Given the description of an element on the screen output the (x, y) to click on. 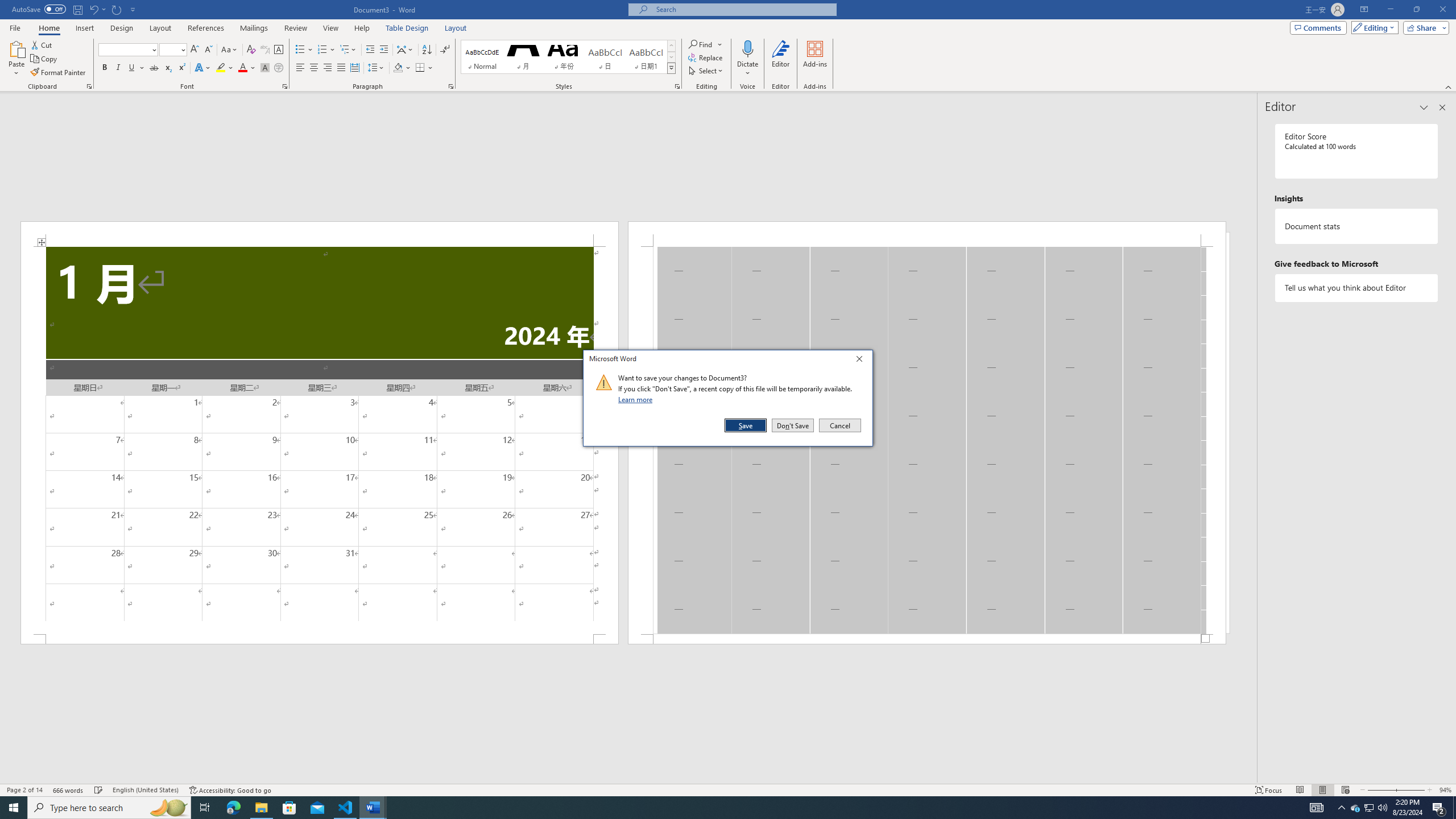
Document statistics (1356, 226)
